Given the description of an element on the screen output the (x, y) to click on. 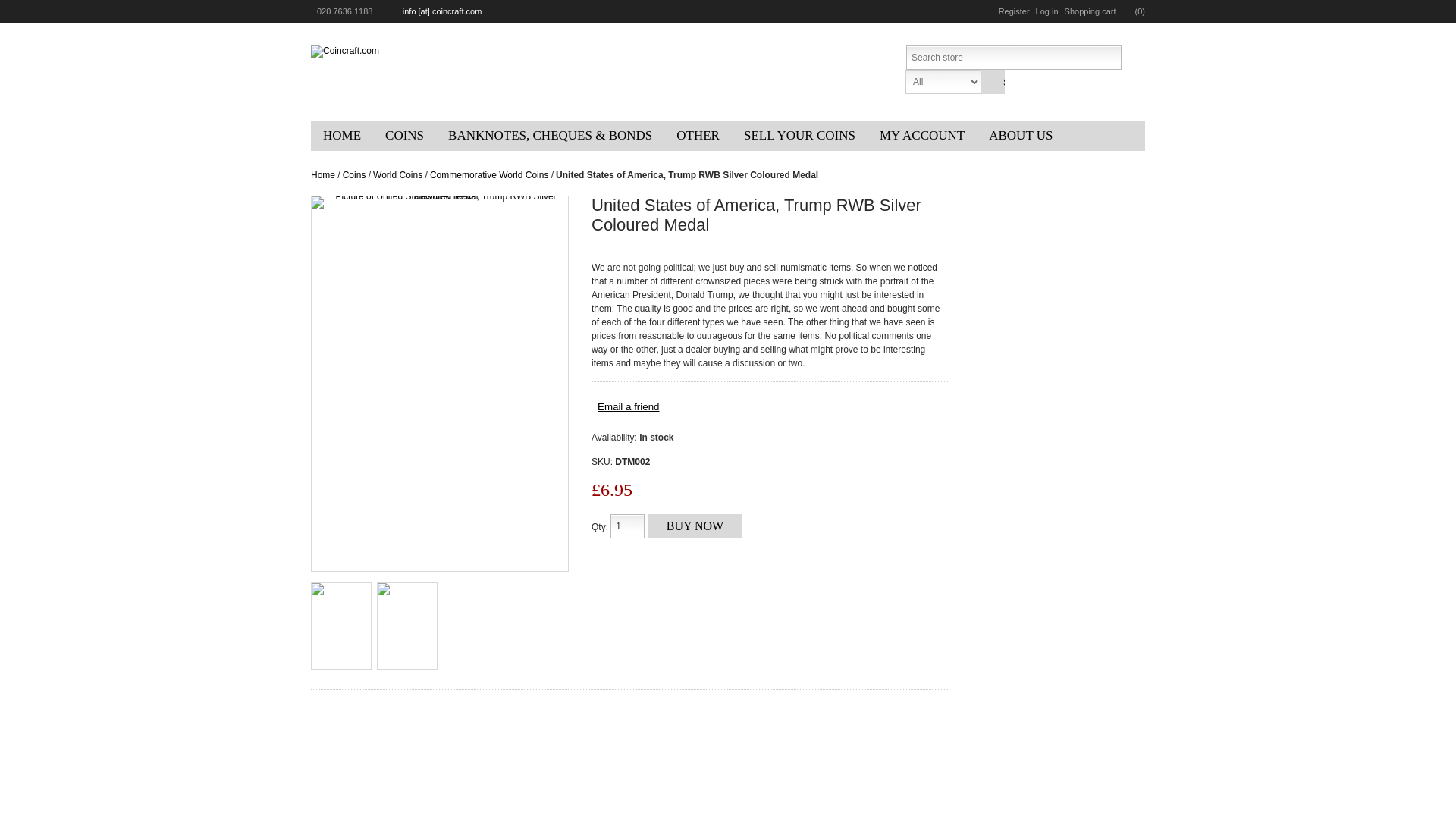
HOME (341, 135)
Buy Now (694, 526)
Search (991, 81)
Register (1013, 10)
Search (991, 81)
Email a friend (628, 406)
Log in (1046, 10)
COINS (403, 135)
Home (341, 135)
1 (627, 526)
Coincraft.com (344, 51)
Search (991, 81)
